Given the description of an element on the screen output the (x, y) to click on. 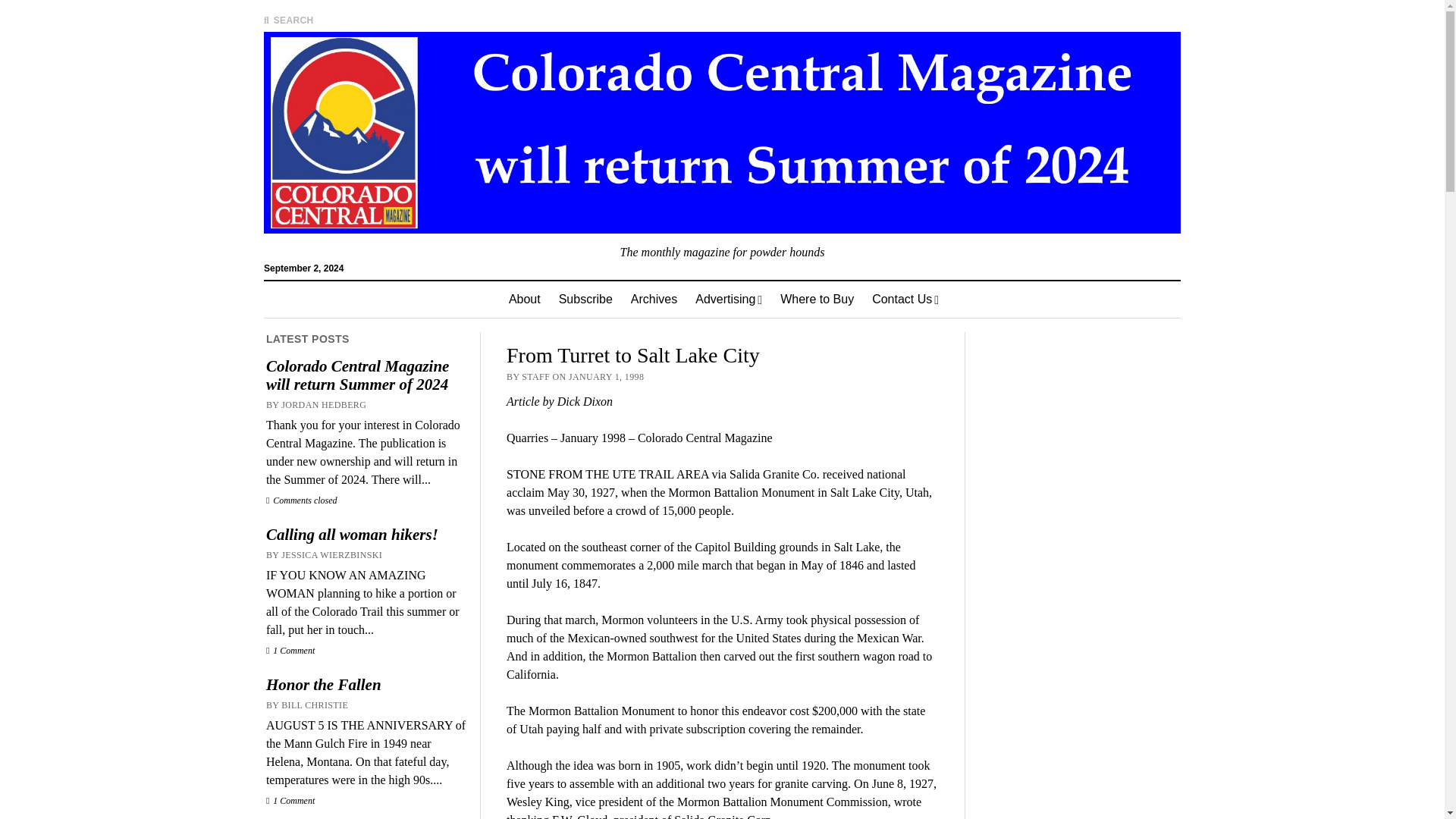
Contact Us (905, 299)
Where to Buy (817, 299)
1 Comment (290, 650)
Advertising (728, 299)
Subscribe (585, 299)
Archives (653, 299)
Comments closed (301, 500)
Calling all woman hikers! (365, 534)
Search (945, 129)
SEARCH (288, 20)
